Given the description of an element on the screen output the (x, y) to click on. 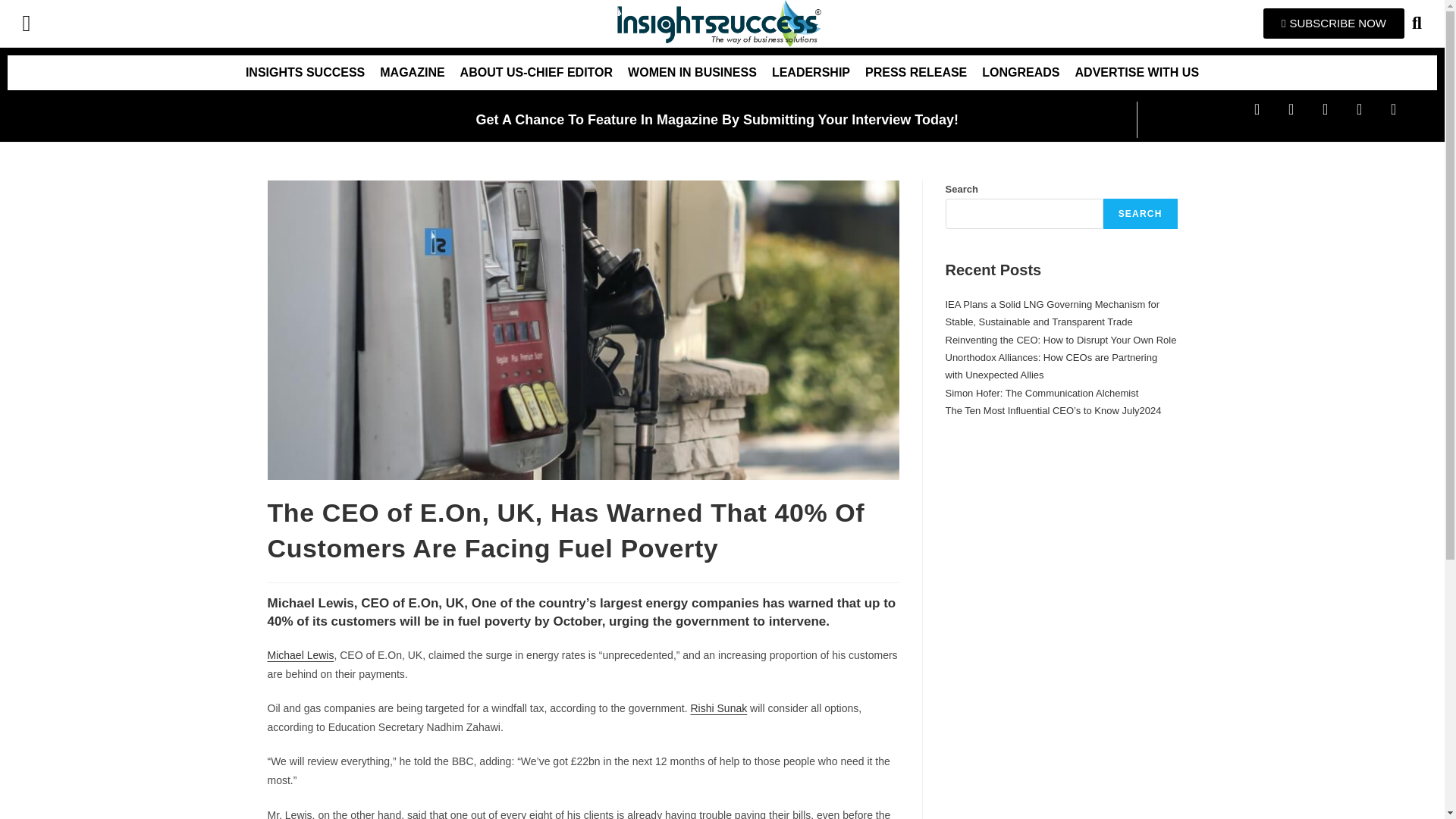
ABOUT US-CHIEF EDITOR (536, 72)
LEADERSHIP (810, 72)
Michael Lewis (299, 654)
INSIGHTS SUCCESS (305, 72)
SUBSCRIBE NOW (1334, 23)
SEARCH (1140, 214)
LONGREADS (1020, 72)
WOMEN IN BUSINESS (692, 72)
MAGAZINE (411, 72)
ADVERTISE WITH US (1137, 72)
Rishi Sunak (718, 707)
PRESS RELEASE (915, 72)
